Given the description of an element on the screen output the (x, y) to click on. 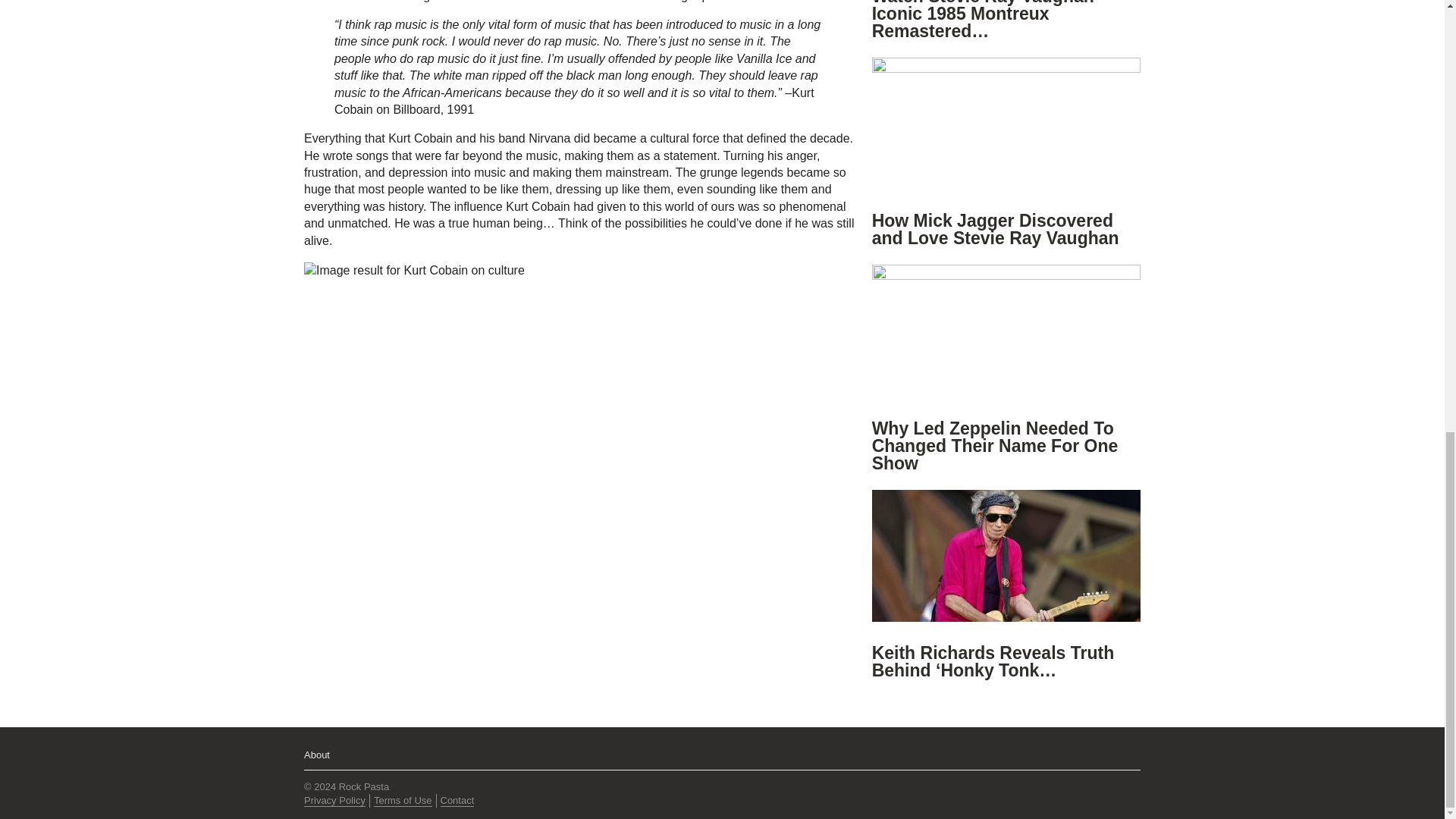
How Mick Jagger Discovered and Love Stevie Ray Vaughan (995, 229)
Privacy Policy (334, 800)
About (317, 754)
Why Led Zeppelin Needed To Changed Their Name For One Show (995, 445)
